Given the description of an element on the screen output the (x, y) to click on. 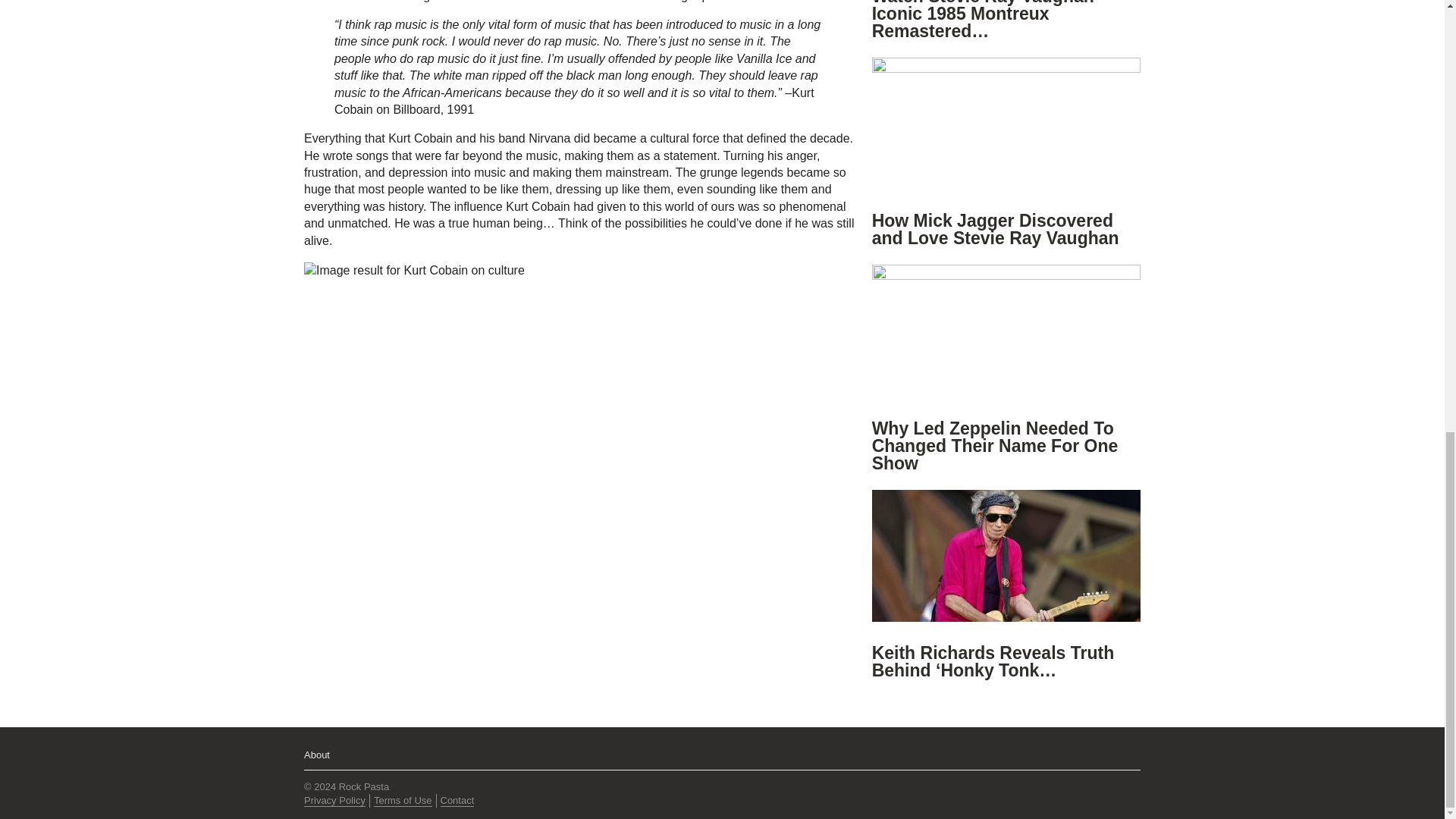
How Mick Jagger Discovered and Love Stevie Ray Vaughan (995, 229)
Privacy Policy (334, 800)
About (317, 754)
Why Led Zeppelin Needed To Changed Their Name For One Show (995, 445)
